Given the description of an element on the screen output the (x, y) to click on. 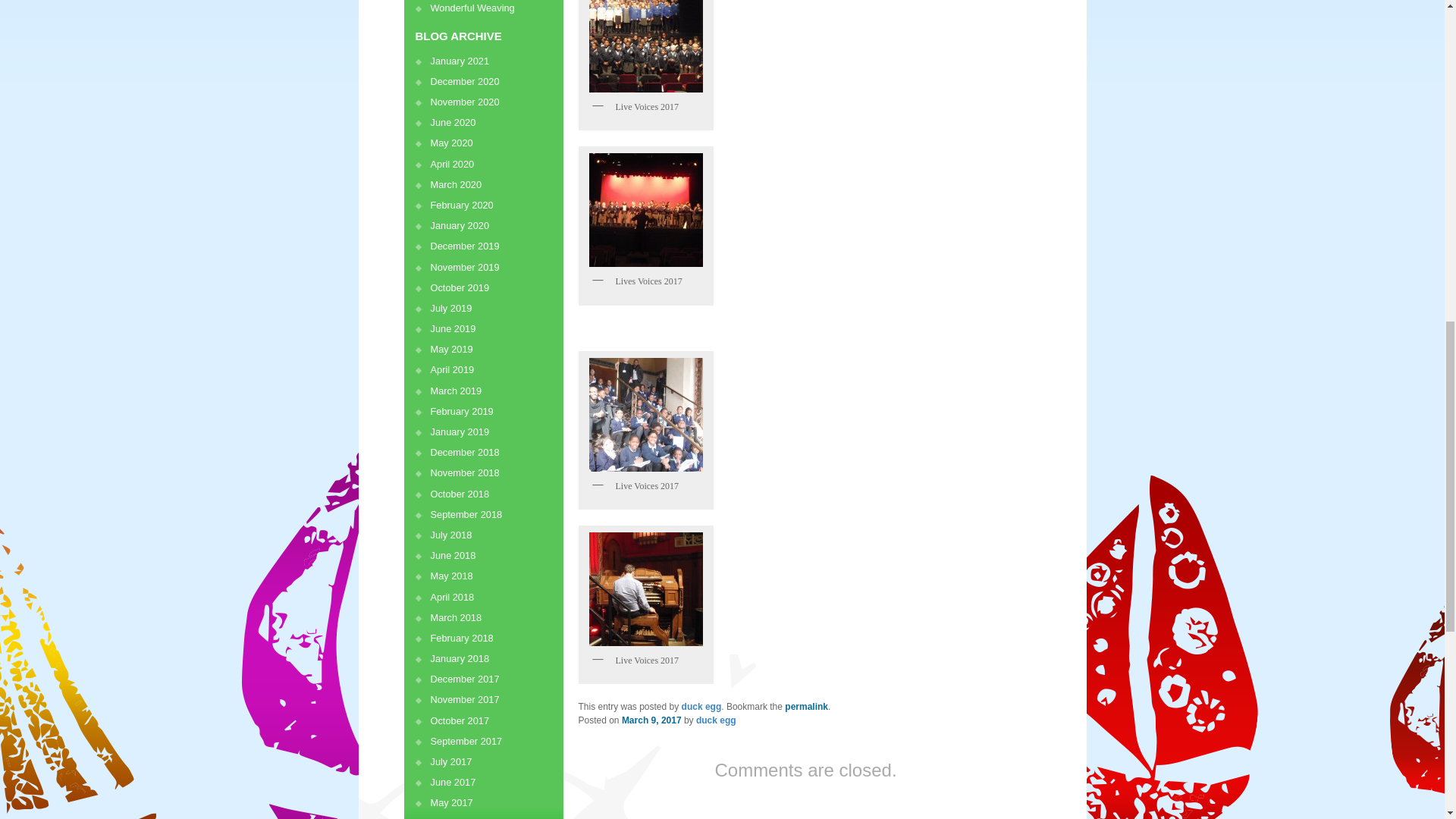
Permalink to Live Voices 2017 perform on Broadway ! (806, 706)
View all posts by duck egg (715, 719)
4:34 pm (651, 719)
